Given the description of an element on the screen output the (x, y) to click on. 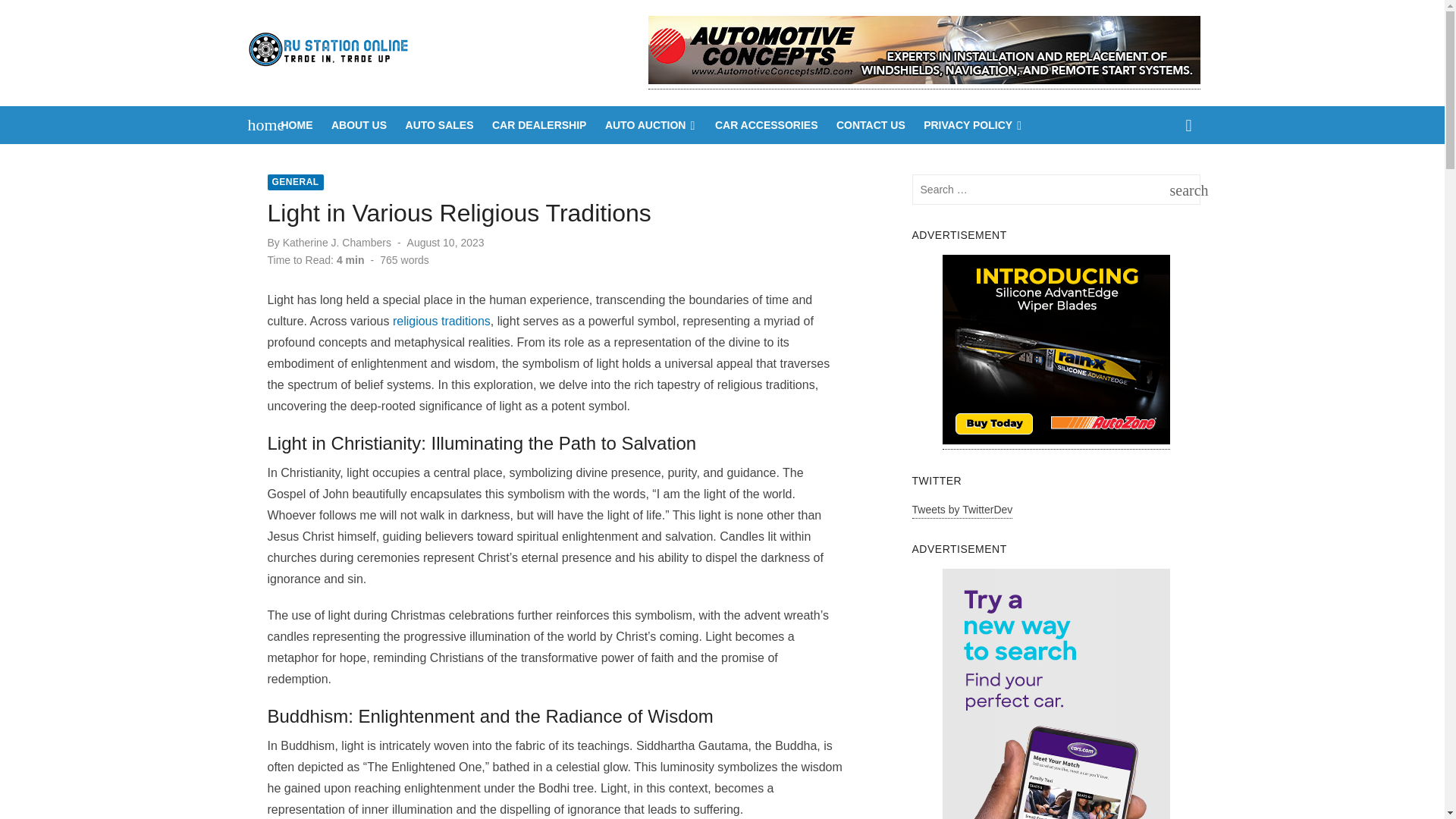
PRIVACY POLICY (1180, 189)
GENERAL (973, 125)
AUTO AUCTION (294, 182)
Tweets by TwitterDev (651, 125)
ABOUT US (962, 510)
CONTACT US (359, 125)
HOME (870, 125)
Katherine J. Chambers (296, 125)
CAR DEALERSHIP (336, 242)
August 10, 2023 (539, 125)
religious traditions (445, 242)
AUTO SALES (441, 320)
CAR ACCESSORIES (440, 125)
home (766, 125)
